Given the description of an element on the screen output the (x, y) to click on. 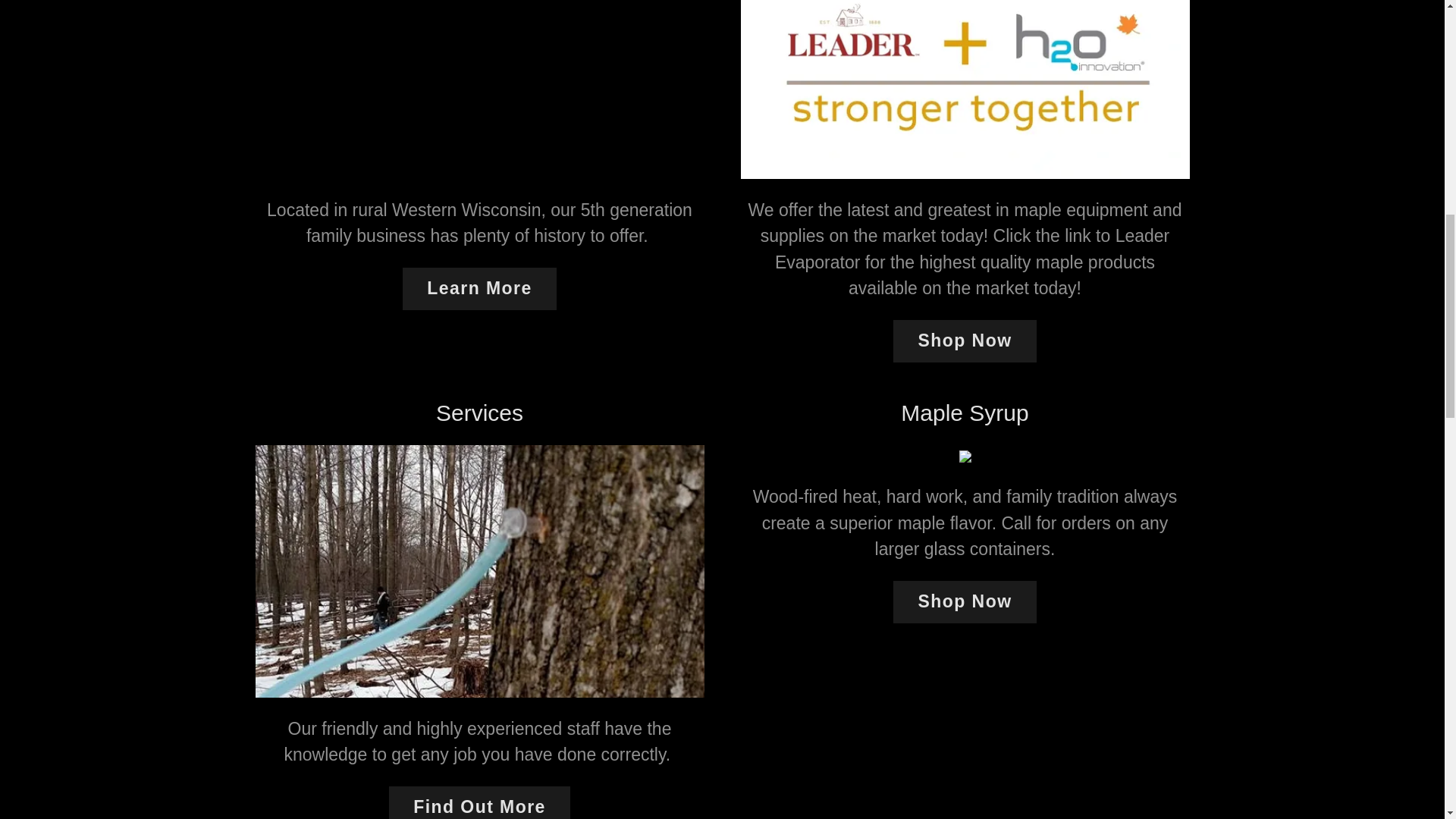
Find Out More (479, 802)
Learn More (479, 287)
Shop Now (964, 341)
Shop Now (964, 601)
